Given the description of an element on the screen output the (x, y) to click on. 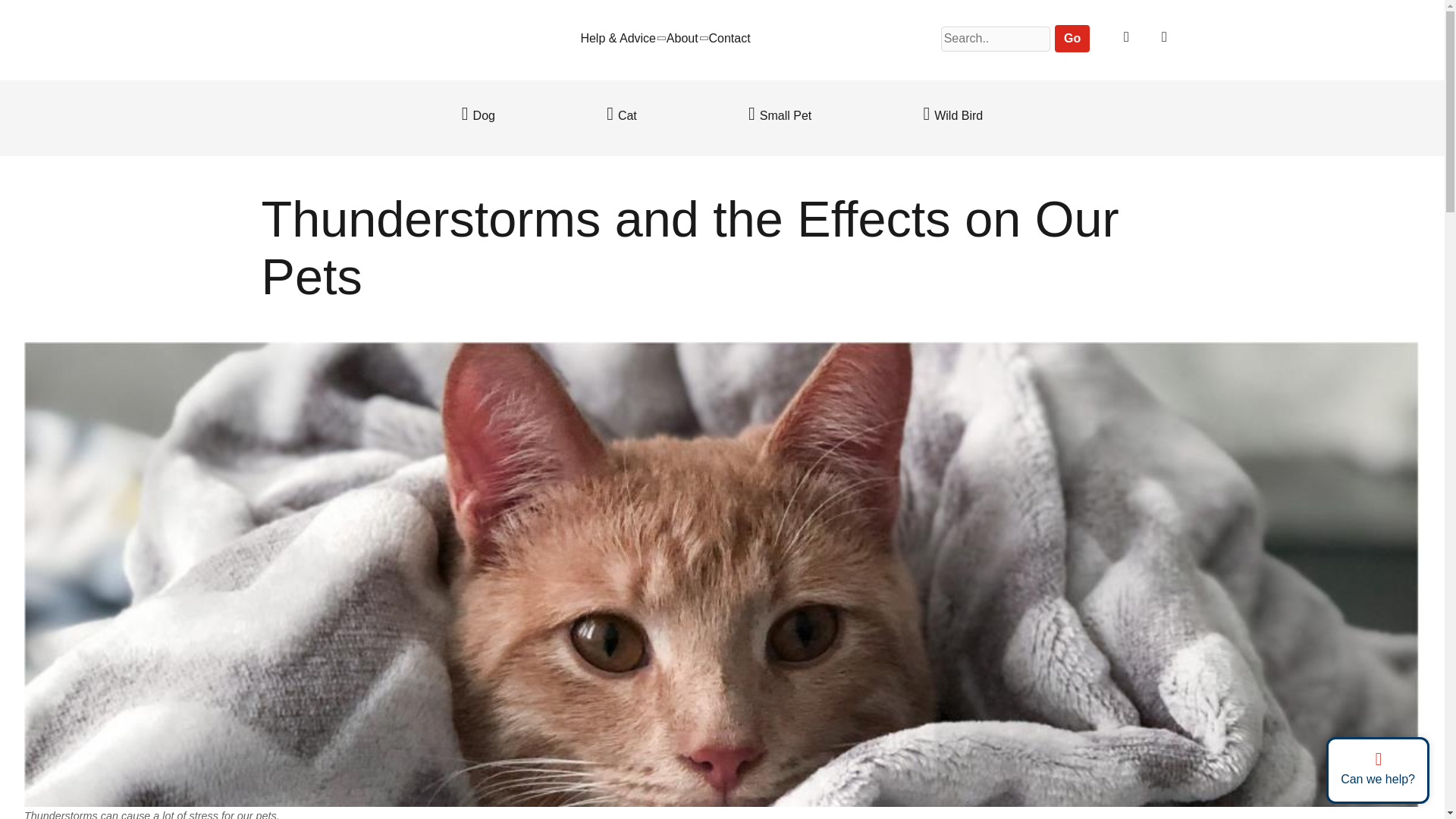
Cat (621, 115)
Go (1071, 38)
Small Pet (779, 115)
Dog (477, 115)
Contact (728, 37)
About (682, 37)
Wild Bird (952, 115)
